Given the description of an element on the screen output the (x, y) to click on. 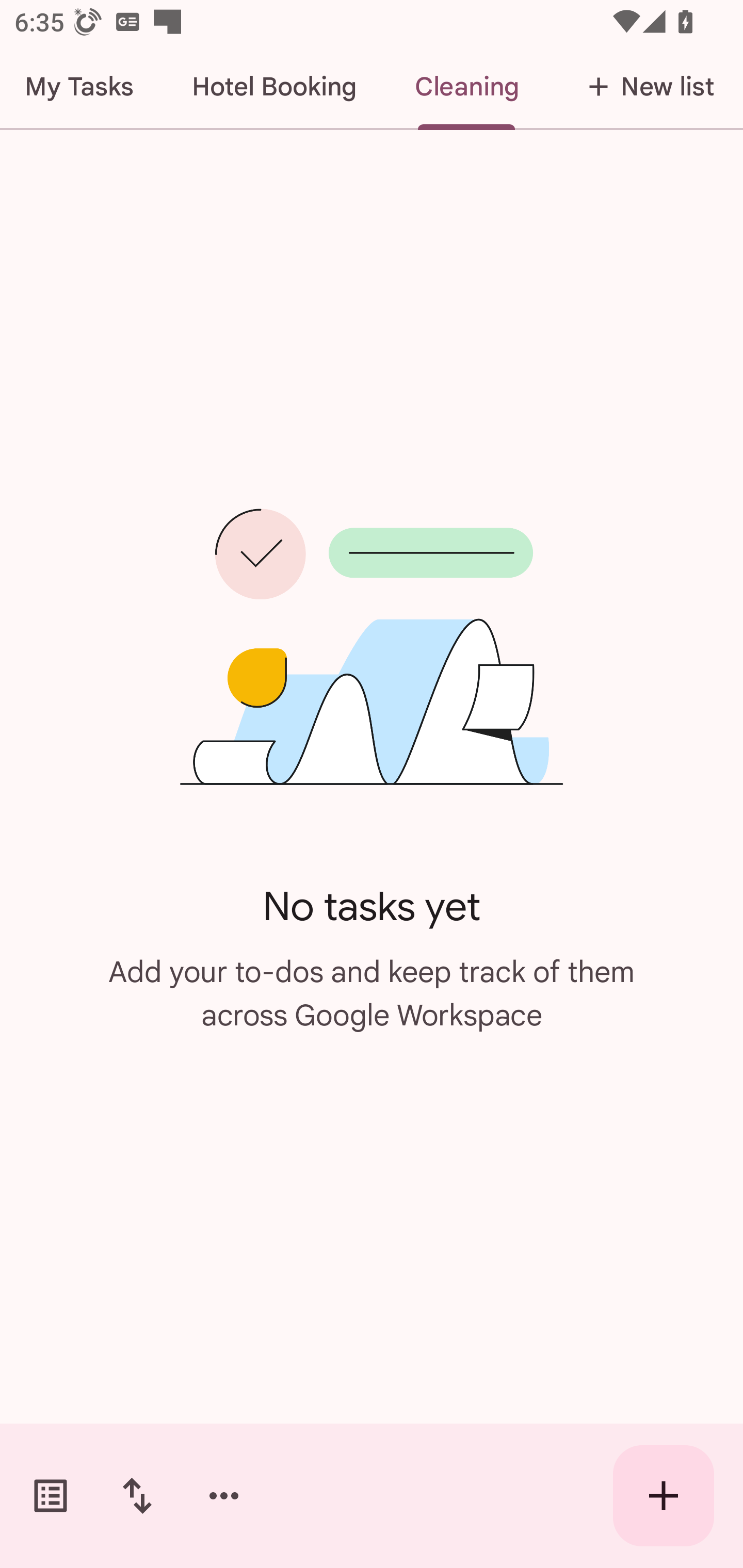
My Tasks (81, 86)
Hotel Booking (273, 86)
New list (645, 86)
Switch task lists (50, 1495)
Create new task (663, 1495)
Change sort order (136, 1495)
More options (223, 1495)
